Given the description of an element on the screen output the (x, y) to click on. 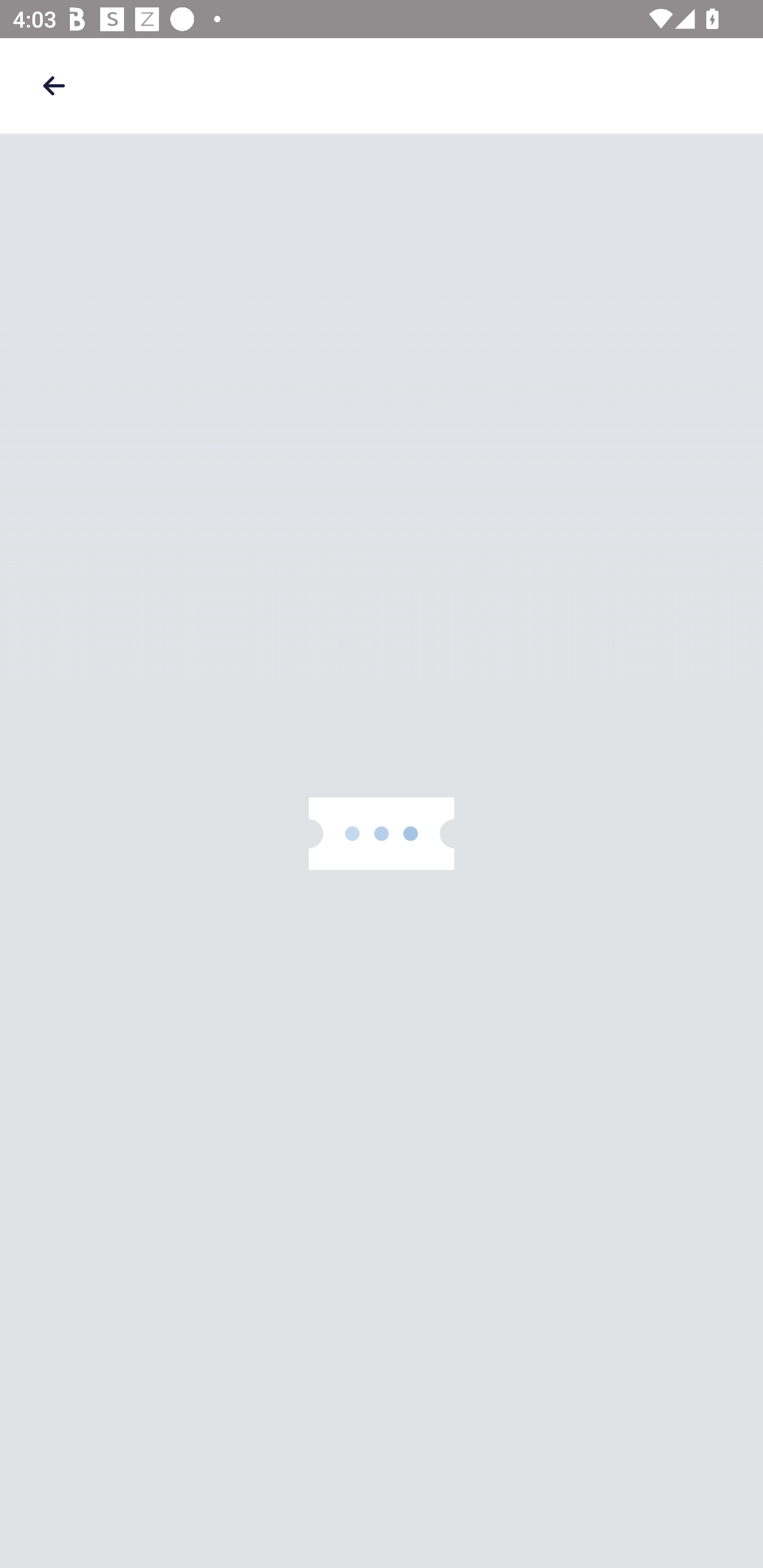
back button (53, 85)
